Given the description of an element on the screen output the (x, y) to click on. 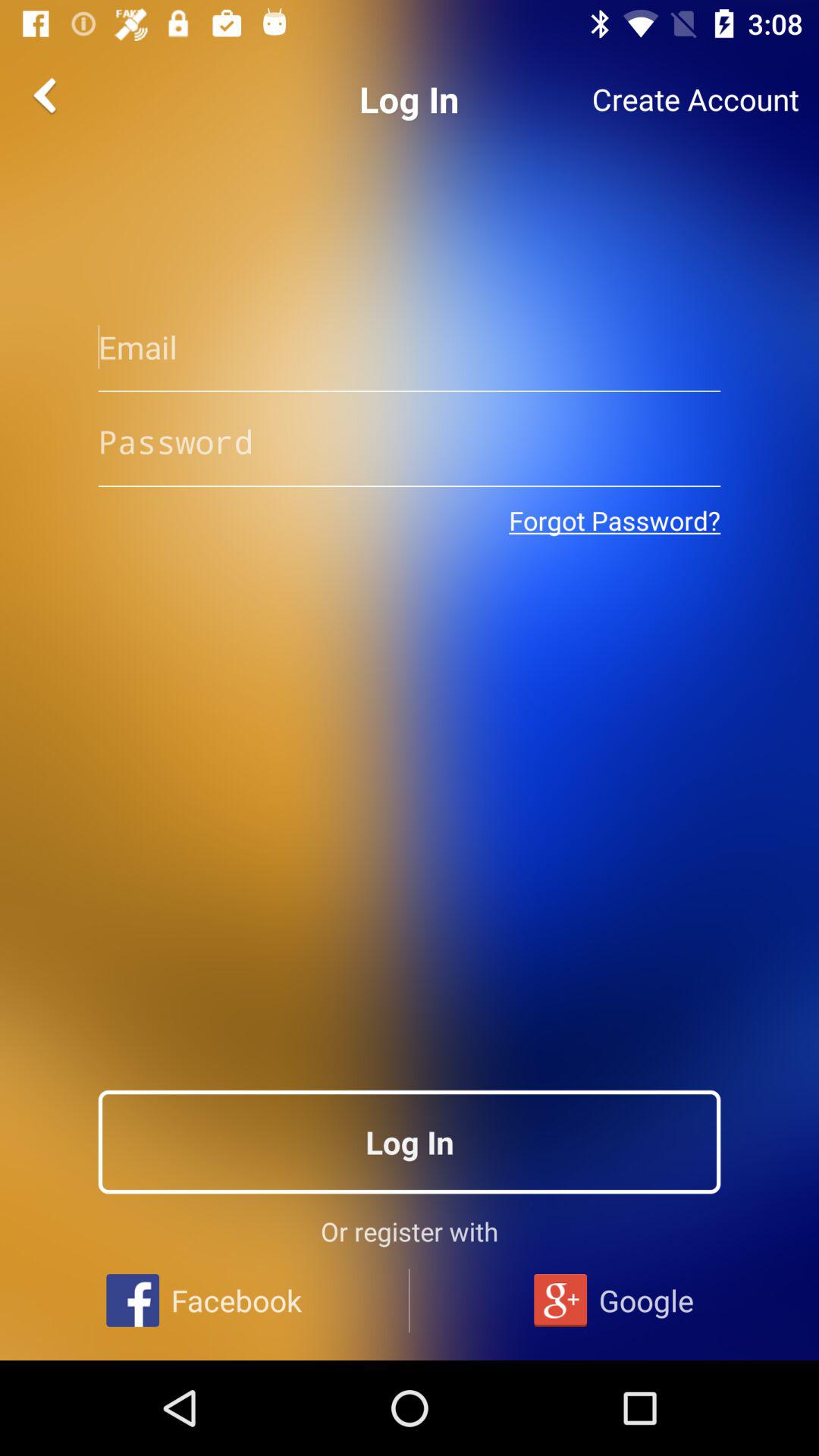
open the item next to the log in (47, 95)
